Given the description of an element on the screen output the (x, y) to click on. 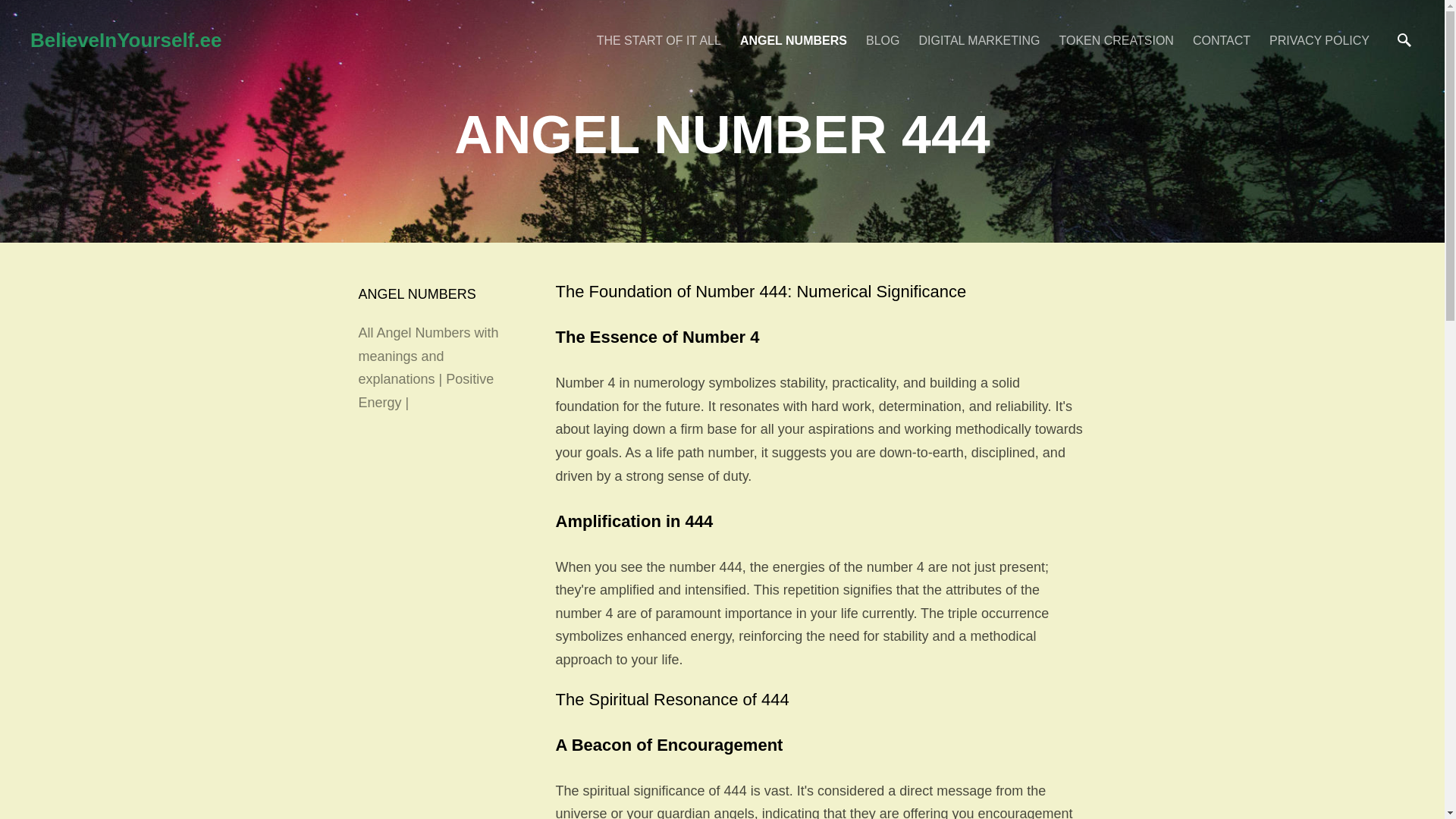
PRIVACY POLICY (1319, 40)
BLOG (882, 40)
BelieveInYourself.ee (305, 39)
ANGEL NUMBERS (417, 294)
ANGEL NUMBERS (793, 40)
DIGITAL MARKETING (978, 40)
TOKEN CREATSION (1115, 40)
CONTACT (1221, 40)
THE START OF IT ALL (658, 40)
